Given the description of an element on the screen output the (x, y) to click on. 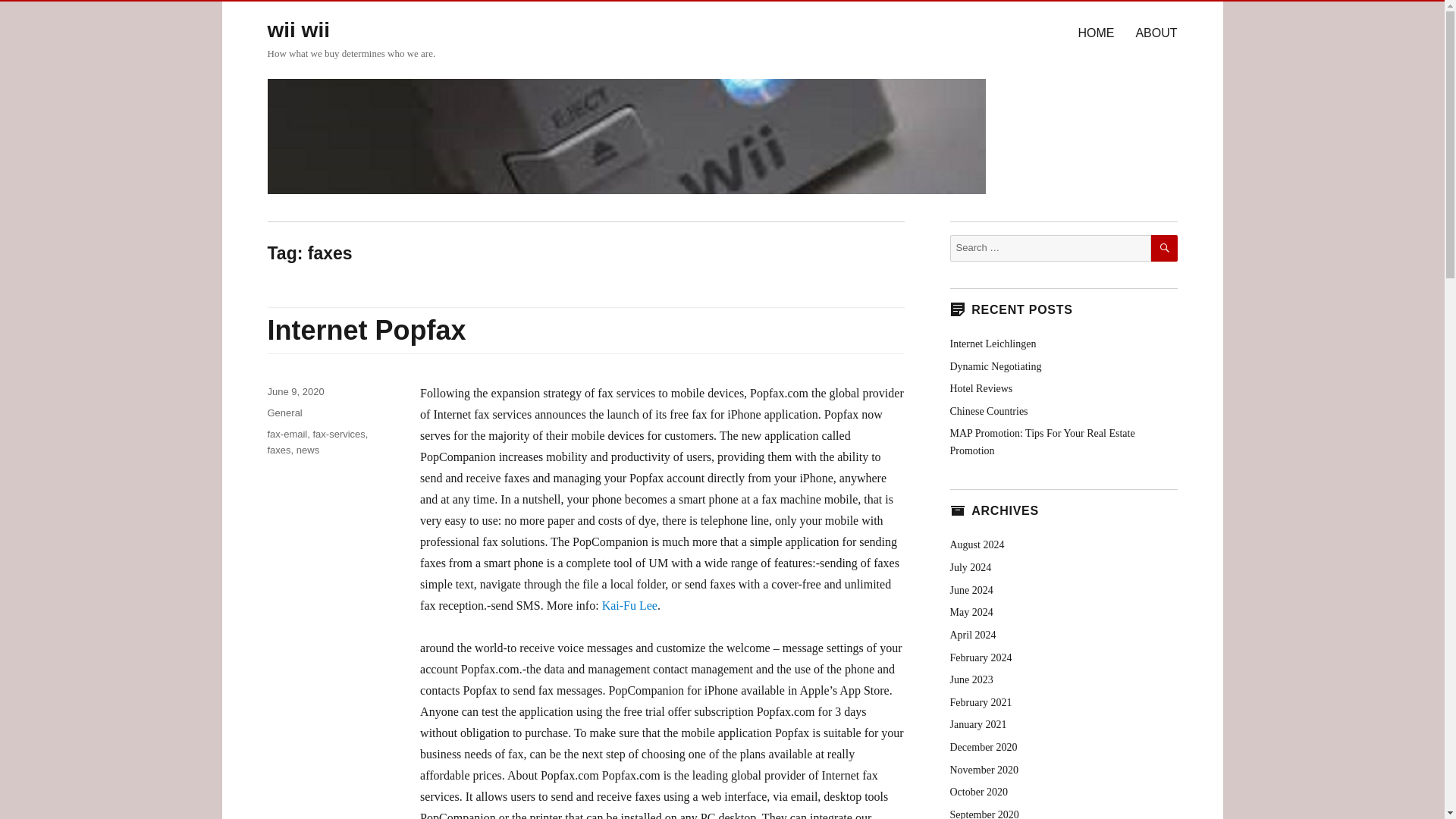
February 2021 (980, 702)
ABOUT (1156, 32)
June 2024 (970, 590)
Kai-Fu Lee (630, 604)
HOME (1095, 32)
August 2024 (976, 544)
fax-email (286, 433)
fax-services (339, 433)
Internet Leichlingen (992, 343)
MAP Promotion: Tips For Your Real Estate Promotion (1041, 441)
